Given the description of an element on the screen output the (x, y) to click on. 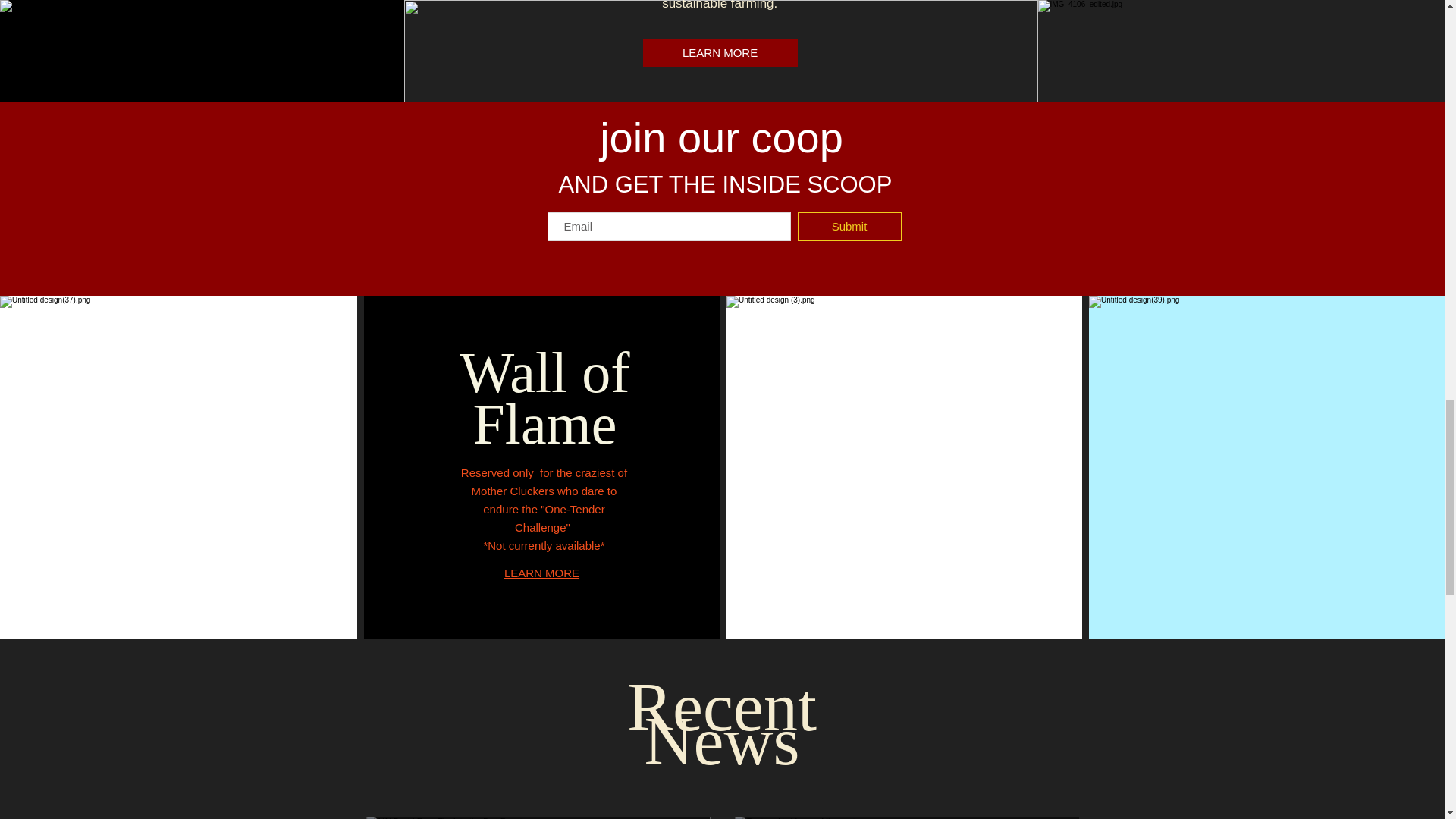
Submit (849, 226)
LEARN MORE (720, 52)
LEARN MORE (541, 572)
